Given the description of an element on the screen output the (x, y) to click on. 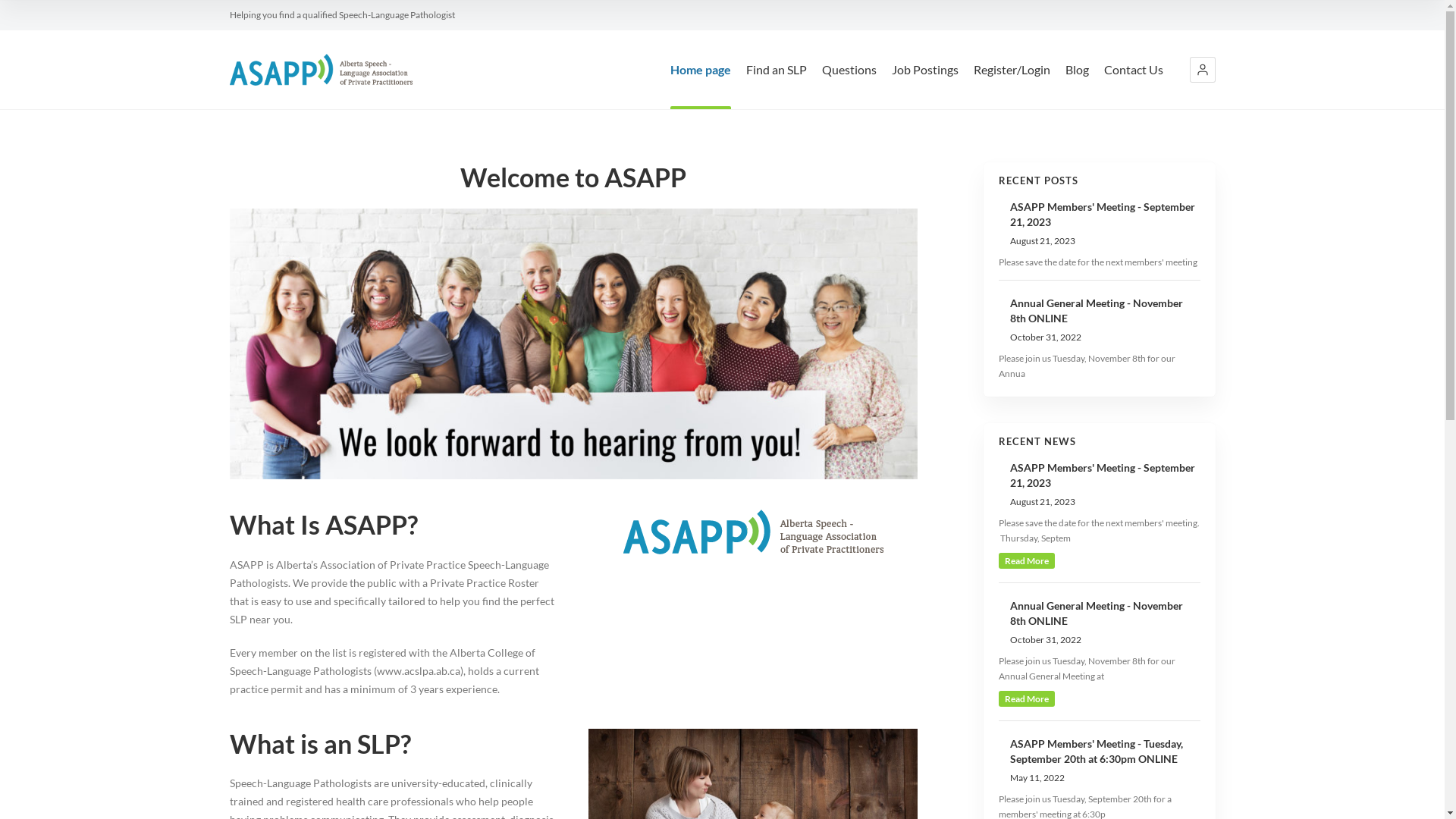
Read More Element type: text (1026, 560)
ASAPP Members' Meeting - September 21, 2023
August 21, 2023 Element type: text (1098, 484)
Questions Element type: text (849, 85)
ASAPP Element type: hover (320, 68)
Log In Element type: text (1019, 122)
Find an SLP Element type: text (776, 85)
Job Postings Element type: text (924, 85)
Register/Login Element type: text (1011, 85)
Blog Element type: text (1076, 85)
Home page Element type: text (700, 85)
Read More Element type: text (1026, 698)
ASAPP Members' Meeting - September 21, 2023
August 21, 2023 Element type: text (1098, 223)
Contact Us Element type: text (1133, 85)
